Given the description of an element on the screen output the (x, y) to click on. 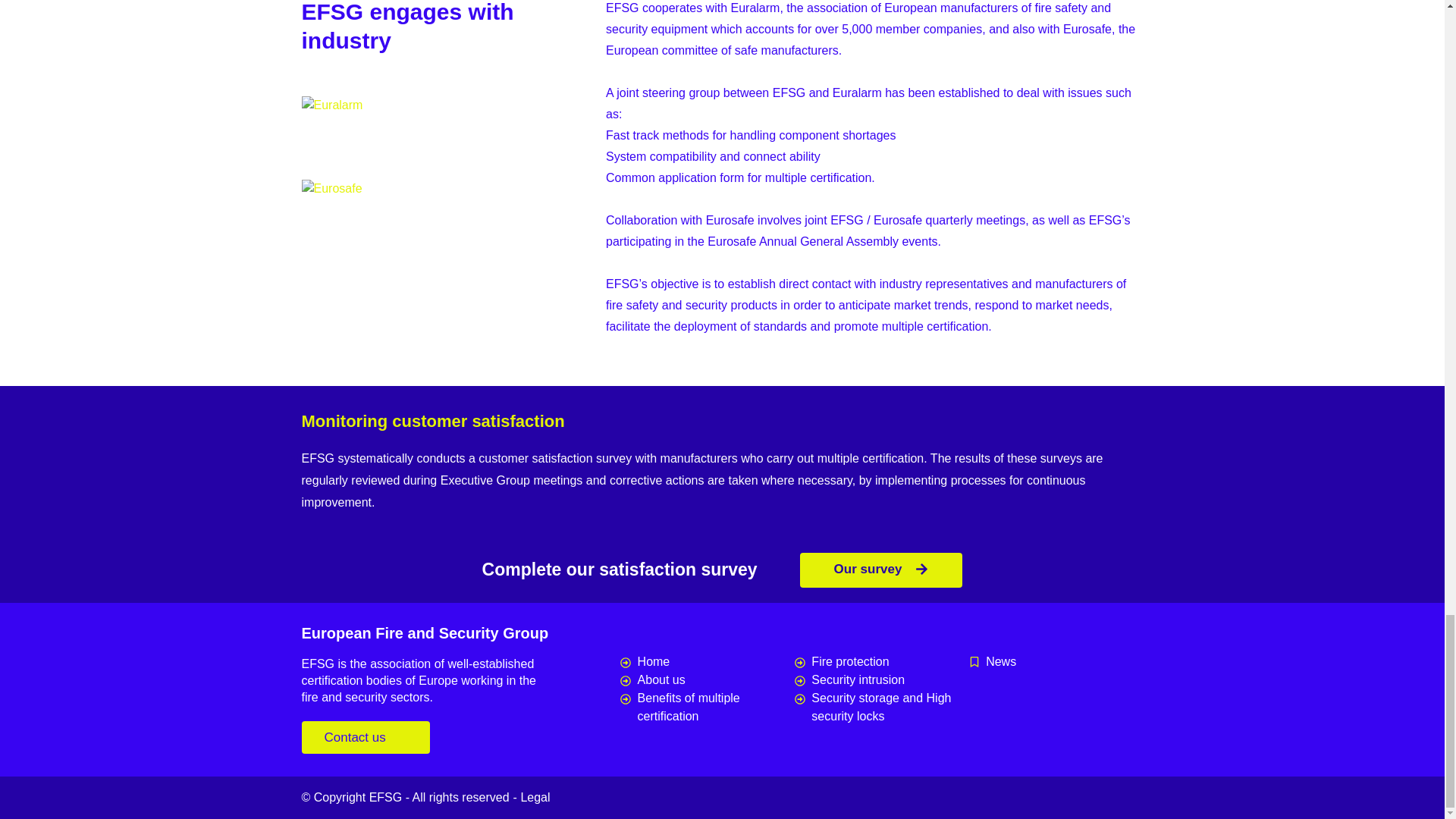
About us (707, 679)
Fire protection (881, 661)
Benefits of multiple certification (707, 707)
Our survey (880, 570)
News (1055, 661)
Contact us (365, 737)
Home (707, 661)
- Legal (531, 797)
Security storage and High security locks (881, 707)
Security intrusion (881, 679)
